Given the description of an element on the screen output the (x, y) to click on. 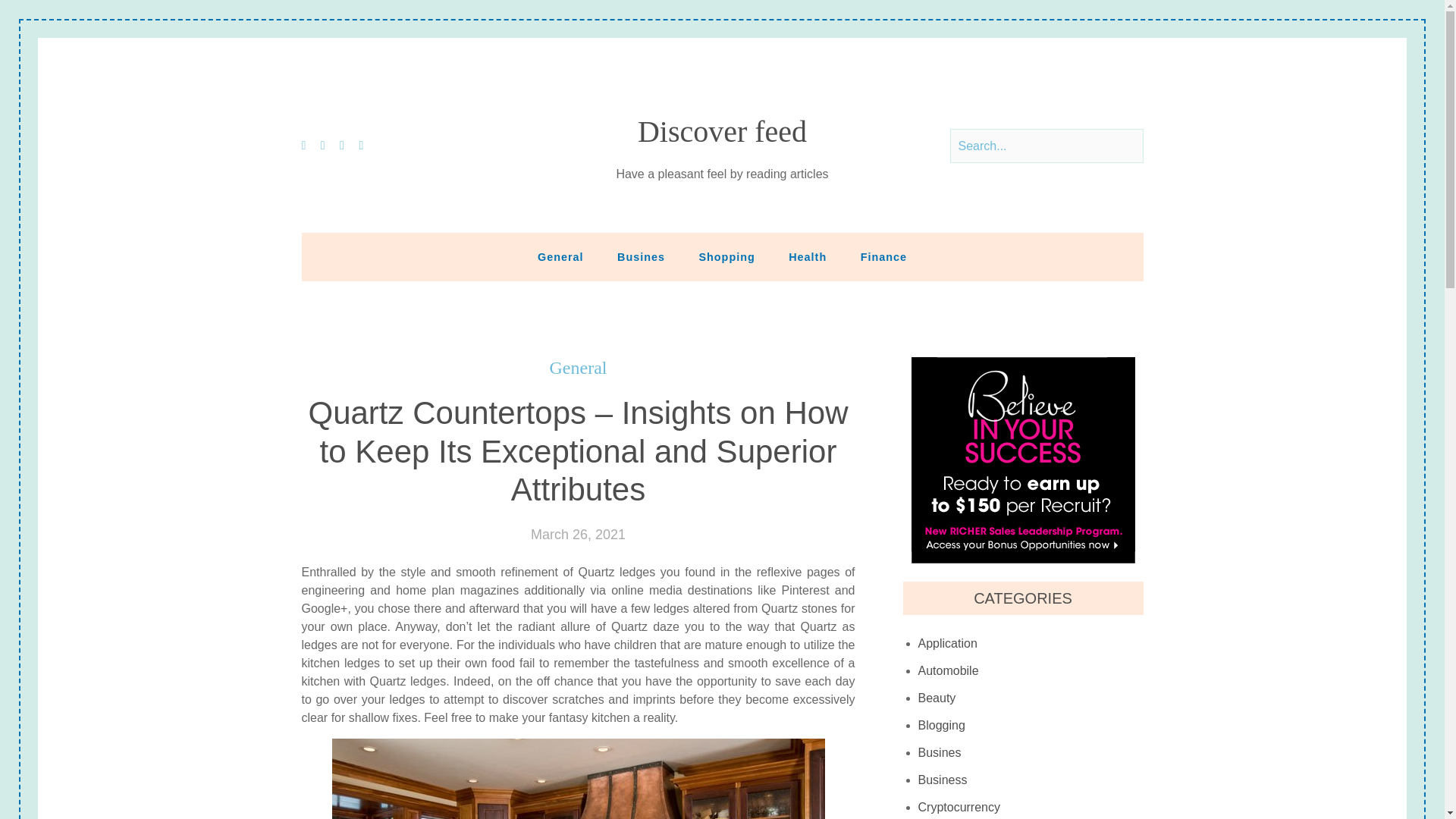
General (578, 368)
Application (947, 643)
Busines (939, 752)
Blogging (941, 725)
Busines (640, 256)
General (560, 256)
Discover feed (721, 131)
Business (943, 779)
Health (807, 256)
Beauty (937, 697)
Automobile (948, 670)
Finance (883, 256)
March 26, 2021 (578, 534)
Shopping (726, 256)
Cryptocurrency (959, 806)
